Given the description of an element on the screen output the (x, y) to click on. 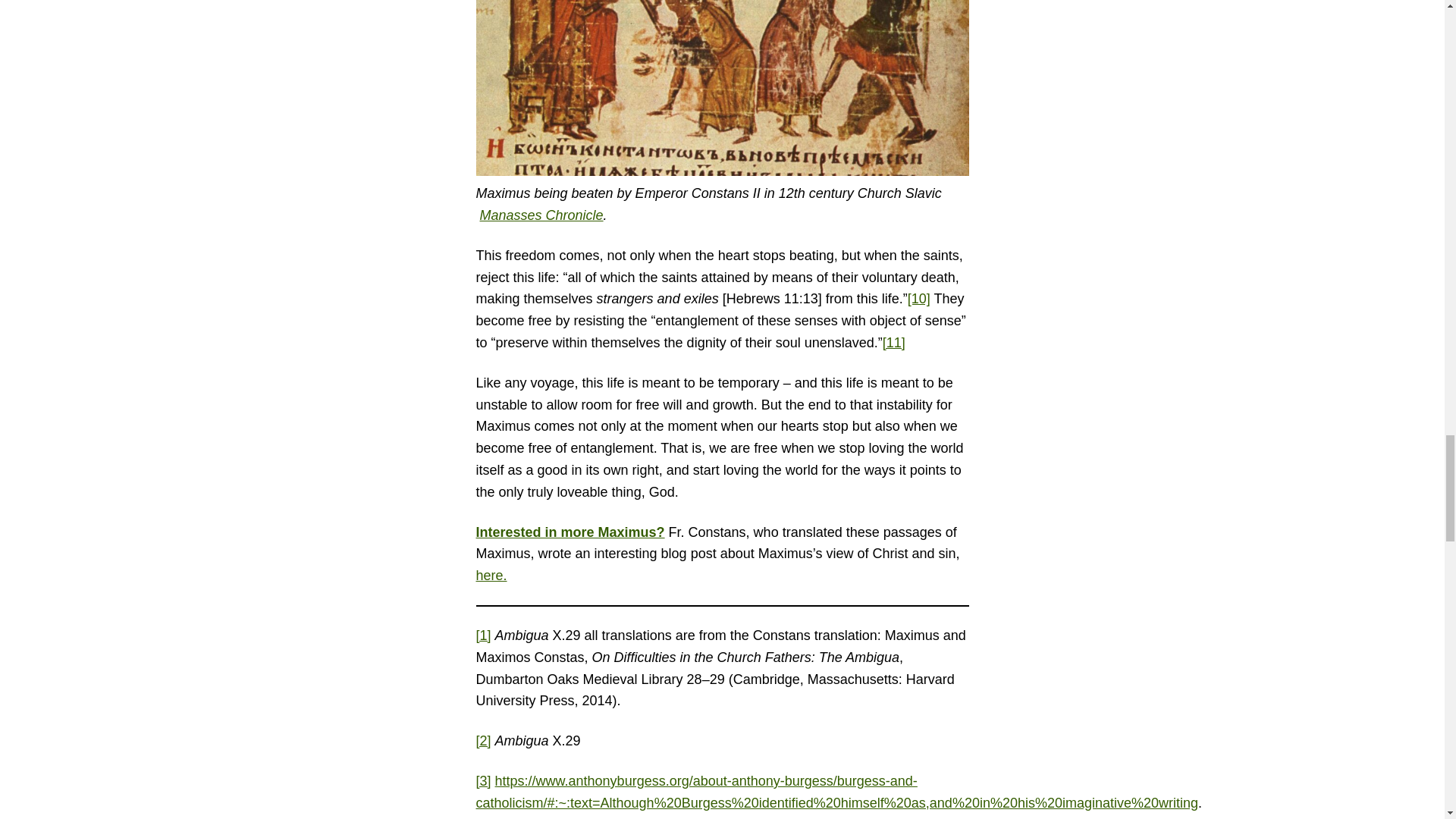
Interested in more Maximus? (570, 531)
Manasses Chronicle (542, 215)
here. (491, 575)
